Given the description of an element on the screen output the (x, y) to click on. 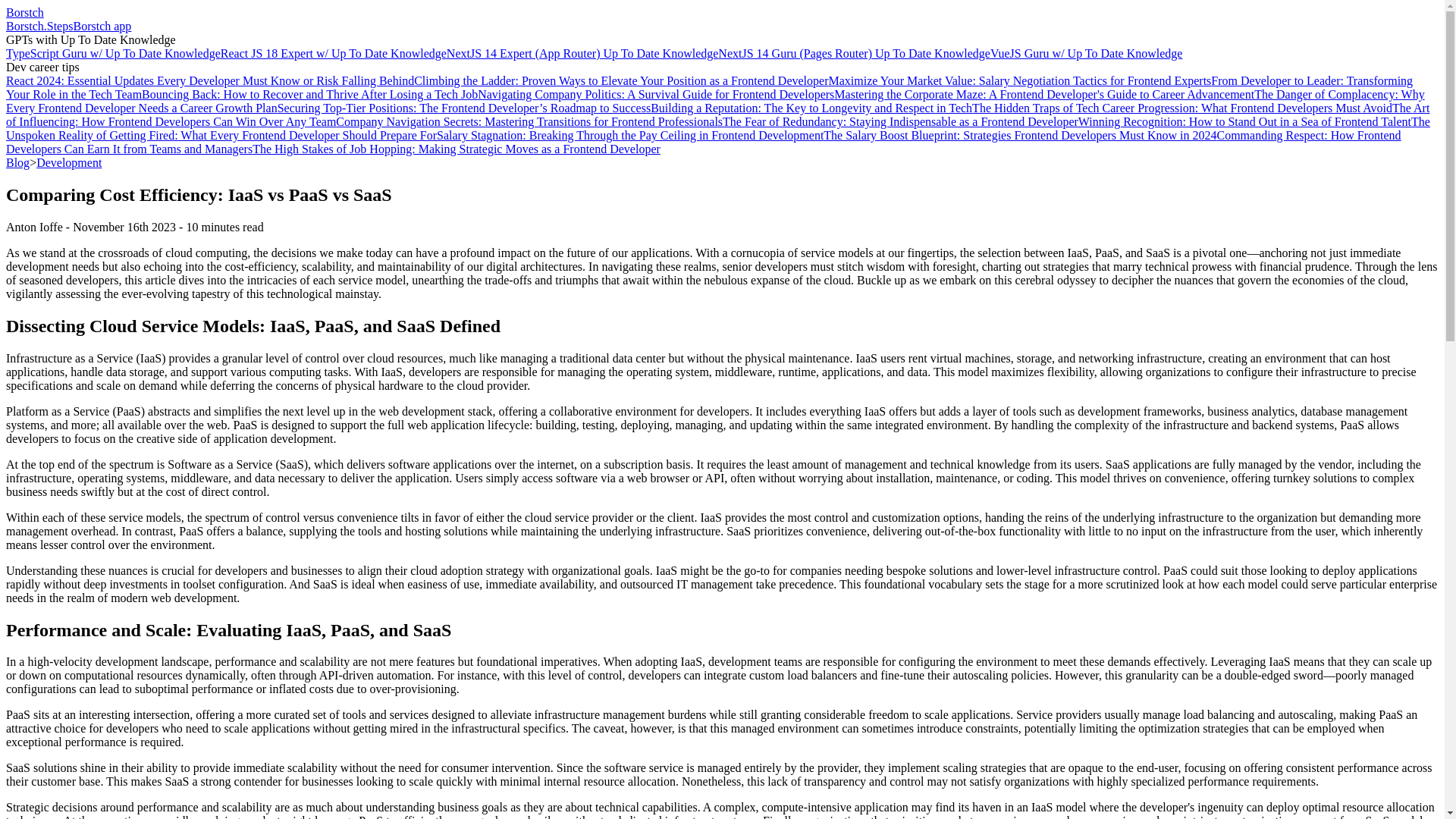
Borstch (24, 11)
Borstch.Steps (38, 25)
Blog (17, 162)
